Given the description of an element on the screen output the (x, y) to click on. 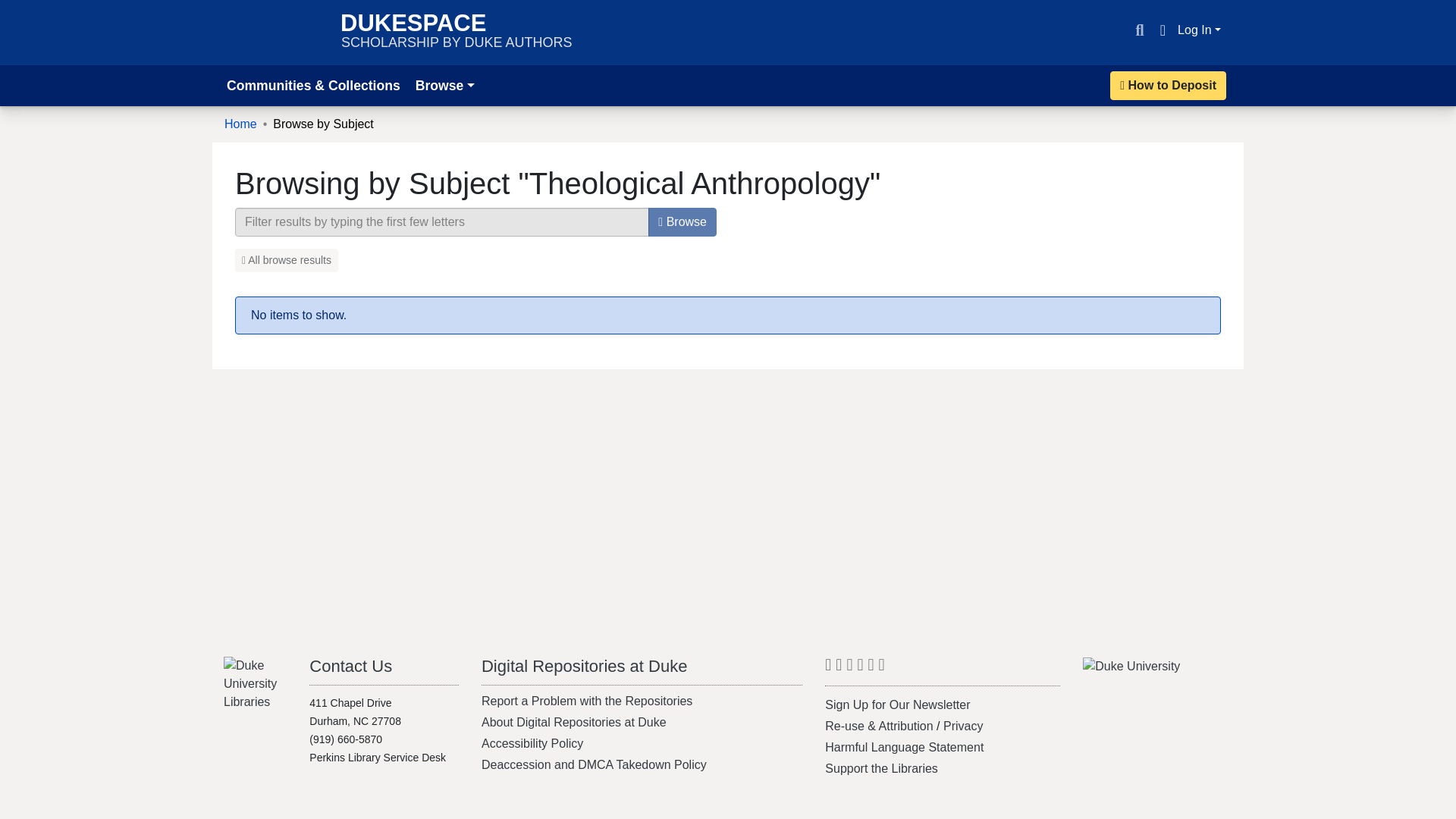
Contact Us (456, 32)
Twitter (349, 665)
How to Deposit (828, 668)
Facebook (1167, 85)
Instagram (838, 668)
Accessibility Policy (870, 668)
Browse (532, 743)
Flickr (681, 222)
Facebook (860, 668)
Log In (838, 668)
Privacy (1199, 29)
YouTube (962, 725)
YouTube (848, 668)
Flickr (848, 668)
